Given the description of an element on the screen output the (x, y) to click on. 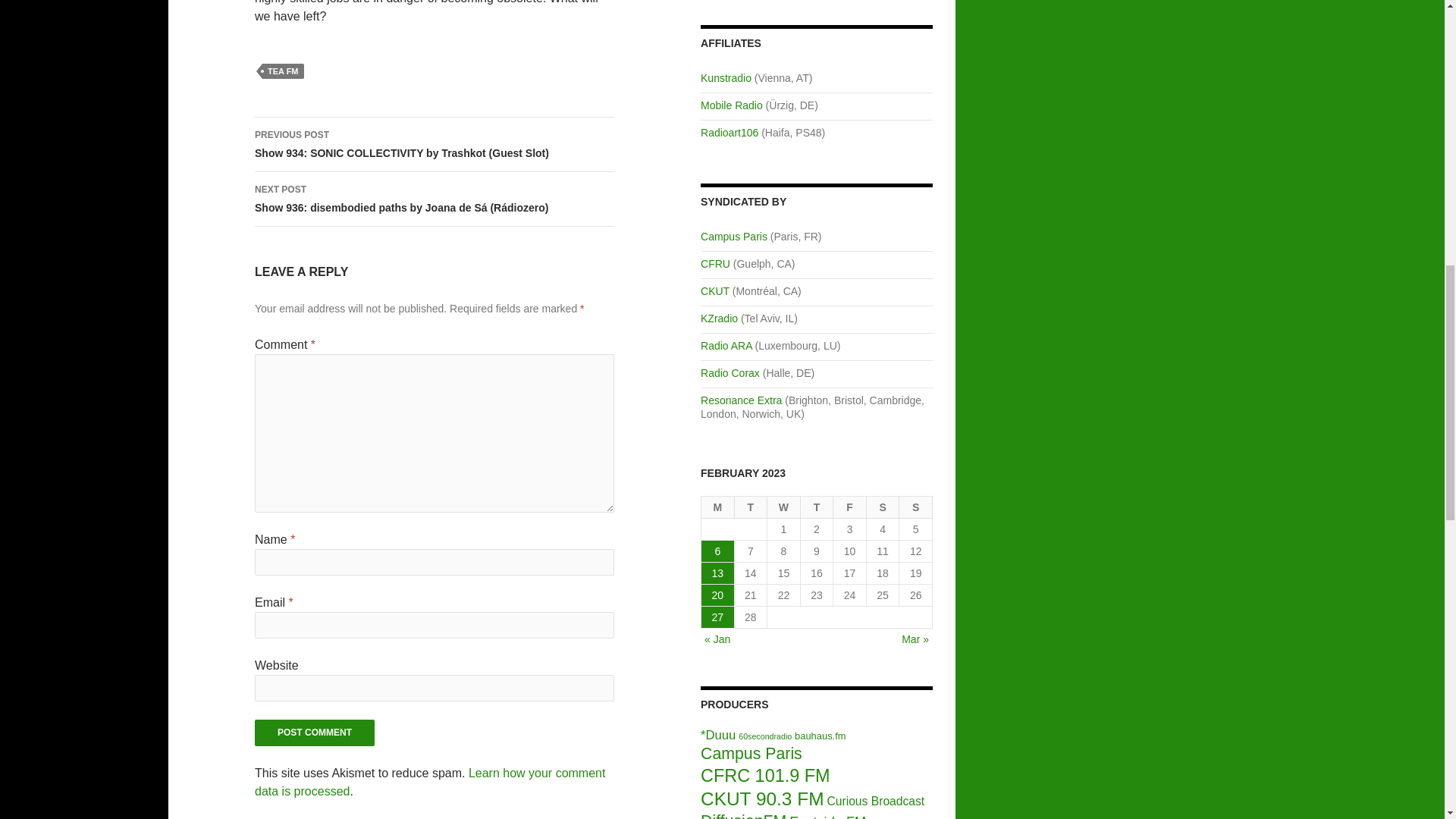
Post Comment (314, 732)
Post Comment (314, 732)
TEA FM (283, 70)
Learn how your comment data is processed (429, 781)
